Given the description of an element on the screen output the (x, y) to click on. 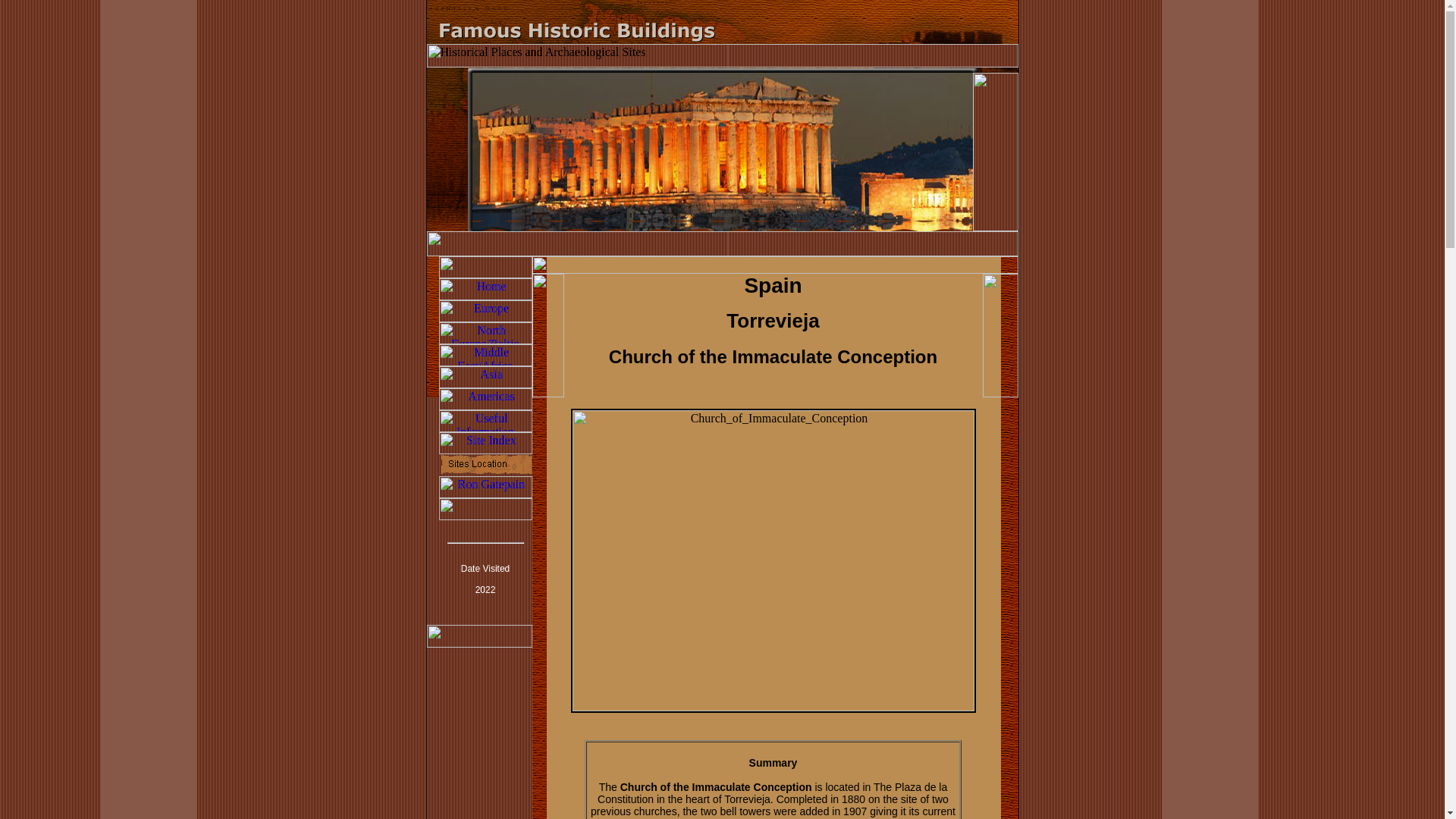
Famous Historic Buildings (721, 30)
Historical Places and Archaeological Sites (721, 55)
Americas (484, 399)
Useful Information (484, 421)
Sites Location (484, 464)
Site Index (484, 443)
Home (484, 289)
Ron Gatepain (484, 486)
Asia (484, 377)
Europe (484, 311)
